Given the description of an element on the screen output the (x, y) to click on. 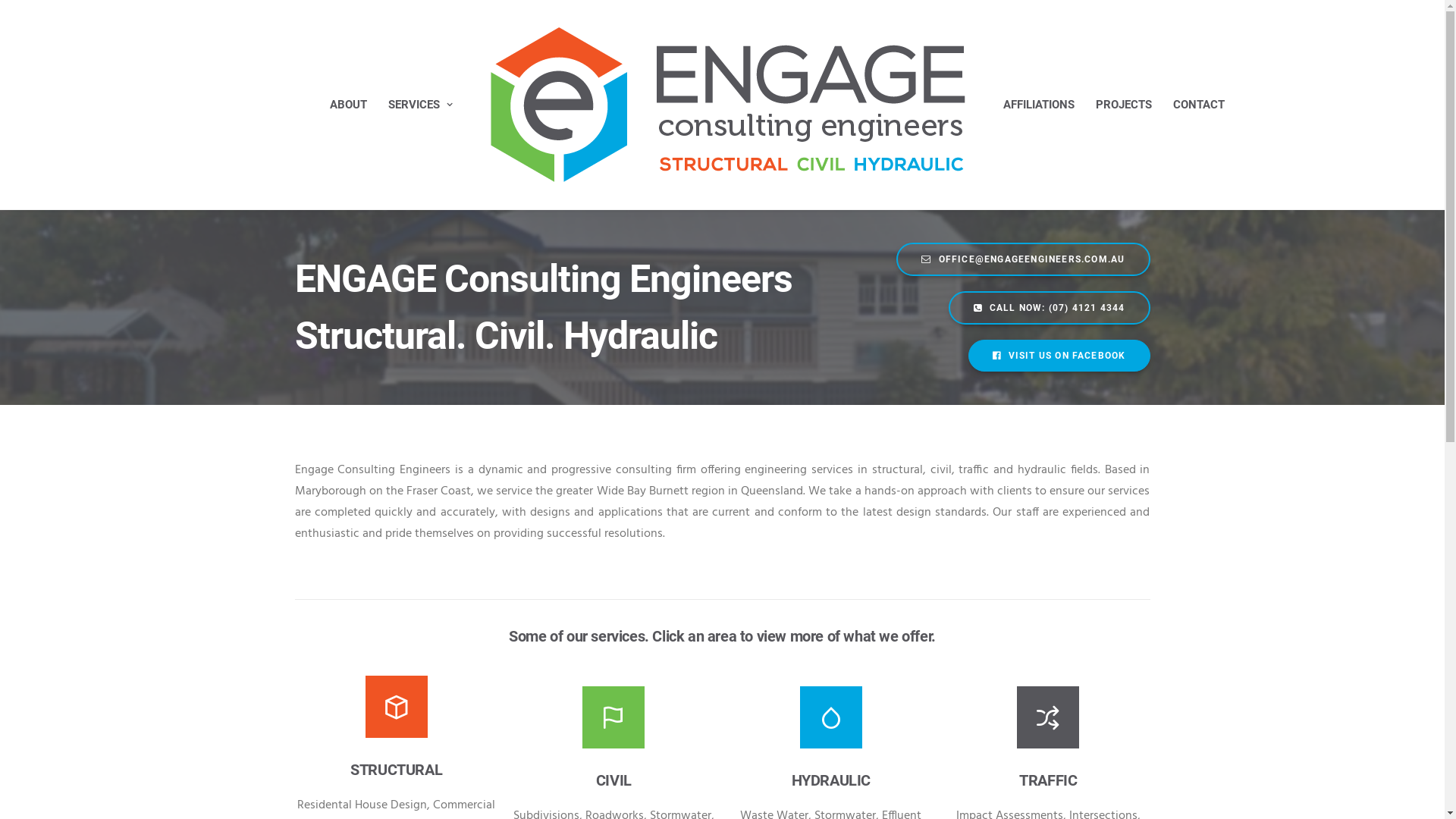
Traffic Element type: hover (1047, 717)
OFFICE@ENGAGEENGINEERS.COM.AU Element type: text (1022, 259)
SERVICES Element type: text (420, 104)
VISIT US ON FACEBOOK Element type: text (1058, 355)
ABOUT Element type: text (348, 104)
Hydraulic Element type: hover (831, 717)
Civil Element type: hover (613, 717)
Structural Element type: hover (396, 706)
AFFILIATIONS Element type: text (1038, 104)
CONTACT Element type: text (1198, 104)
PROJECTS Element type: text (1123, 104)
CALL NOW: (07) 4121 4344 Element type: text (1048, 307)
